Given the description of an element on the screen output the (x, y) to click on. 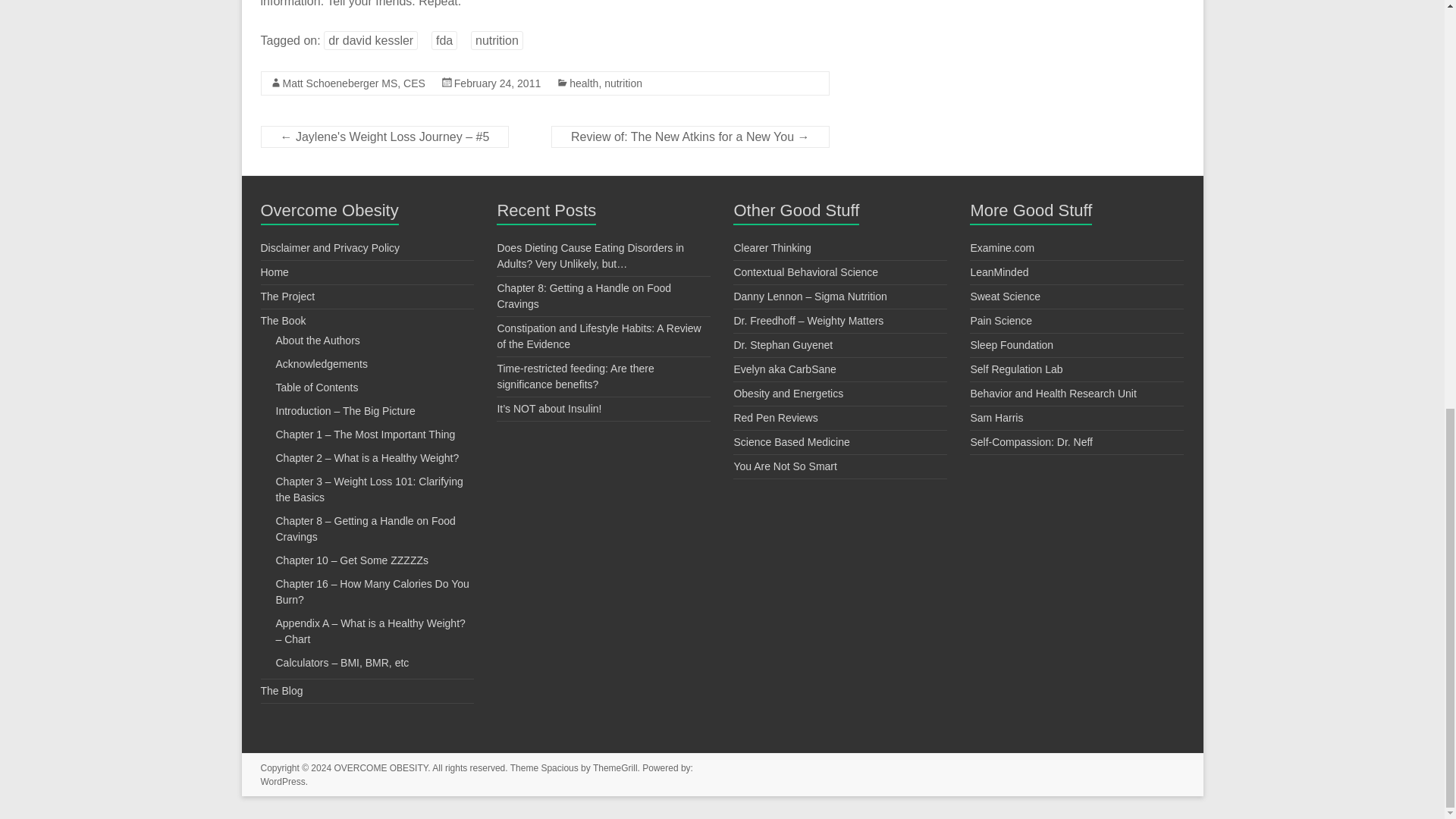
Welcome all seeking refuge from low carb dogma! (784, 369)
fda (443, 40)
Nutrition and health science (782, 345)
9:01 am (497, 82)
February 24, 2011 (497, 82)
Musing of an obesity Doc and certifiably cynical realist (808, 320)
Spacious (559, 767)
nutrition (623, 82)
Exploring issues and controversies in science and medicine (790, 441)
OVERCOME OBESITY (380, 767)
Disclaimer and Privacy Policy (330, 247)
WordPress (282, 781)
dr david kessler (370, 40)
Thrive in a complex world using science-based tools (771, 247)
